Given the description of an element on the screen output the (x, y) to click on. 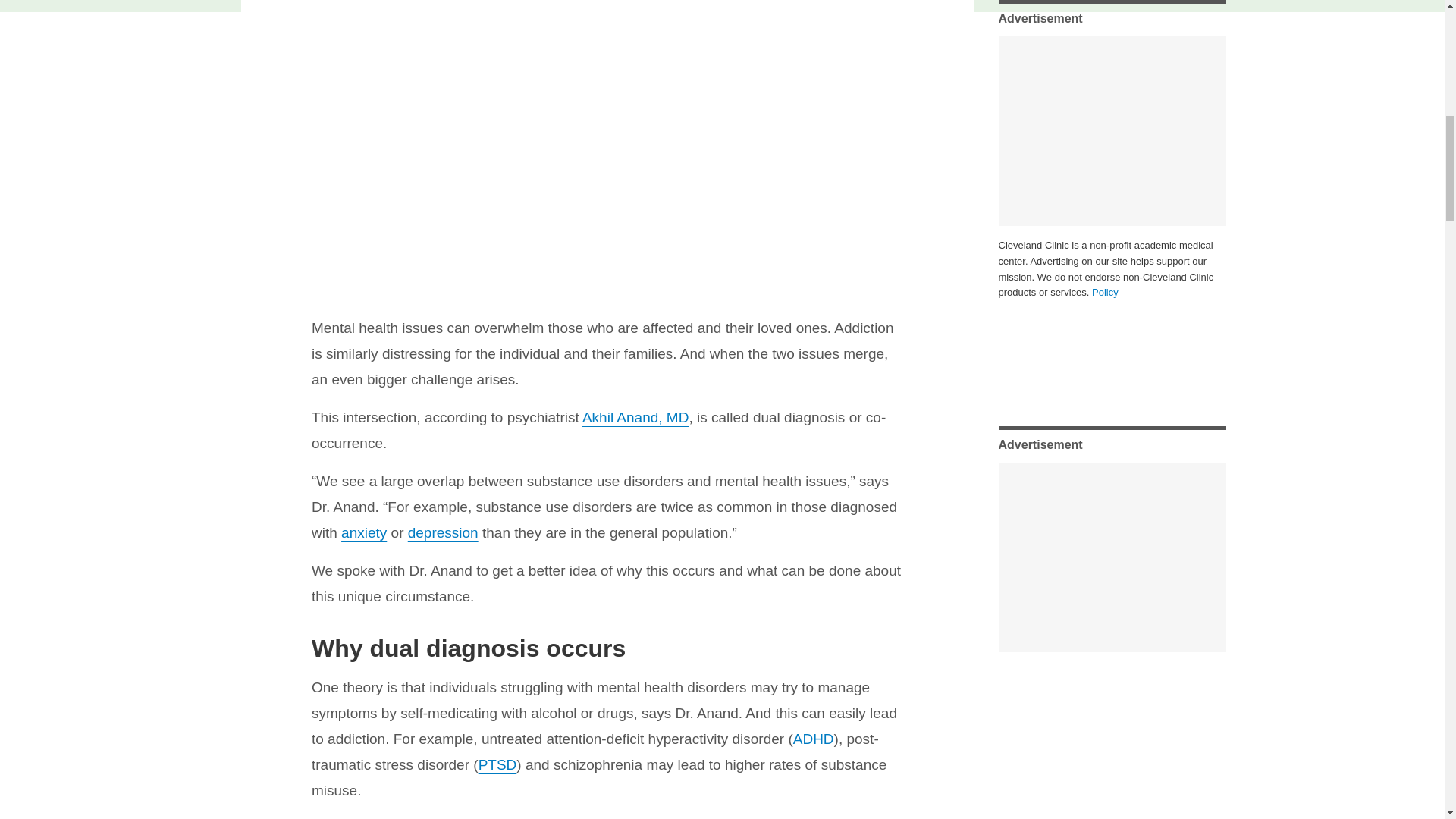
anxiety (363, 532)
Akhil Anand, MD (635, 417)
depression (443, 532)
PTSD (497, 764)
AD (802, 738)
